Given the description of an element on the screen output the (x, y) to click on. 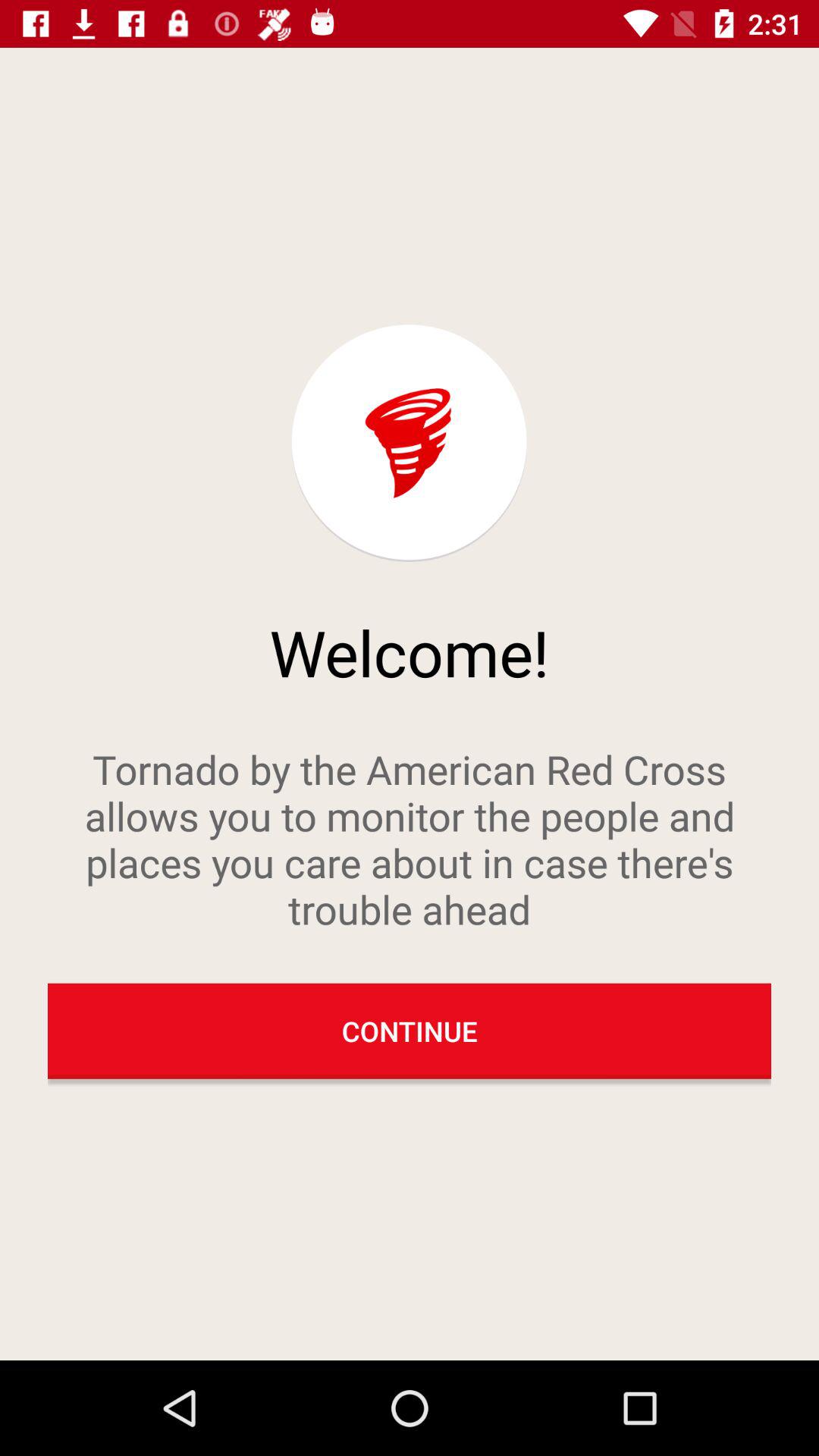
swipe to the continue item (409, 1030)
